Given the description of an element on the screen output the (x, y) to click on. 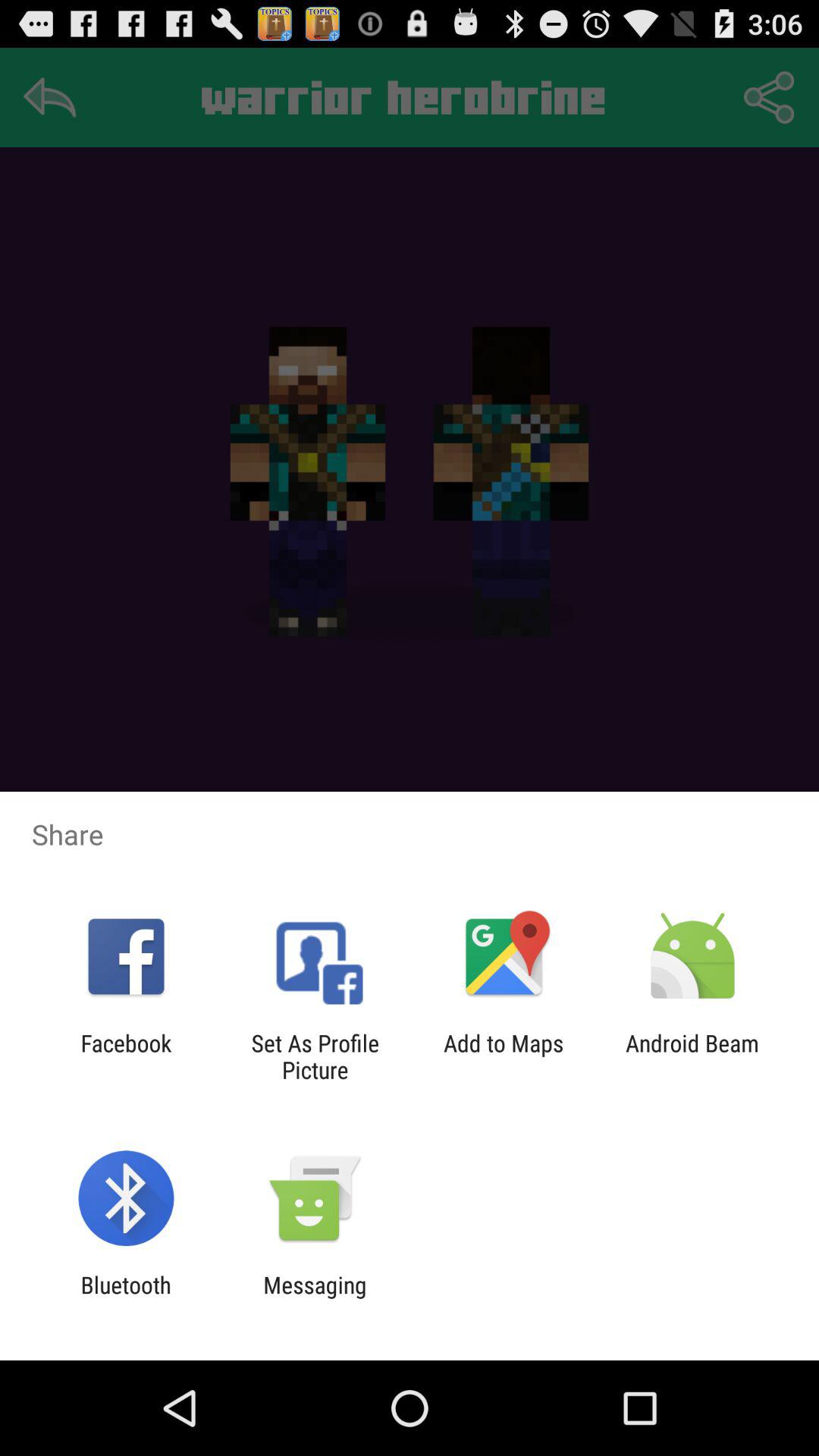
press the item next to messaging icon (125, 1298)
